Given the description of an element on the screen output the (x, y) to click on. 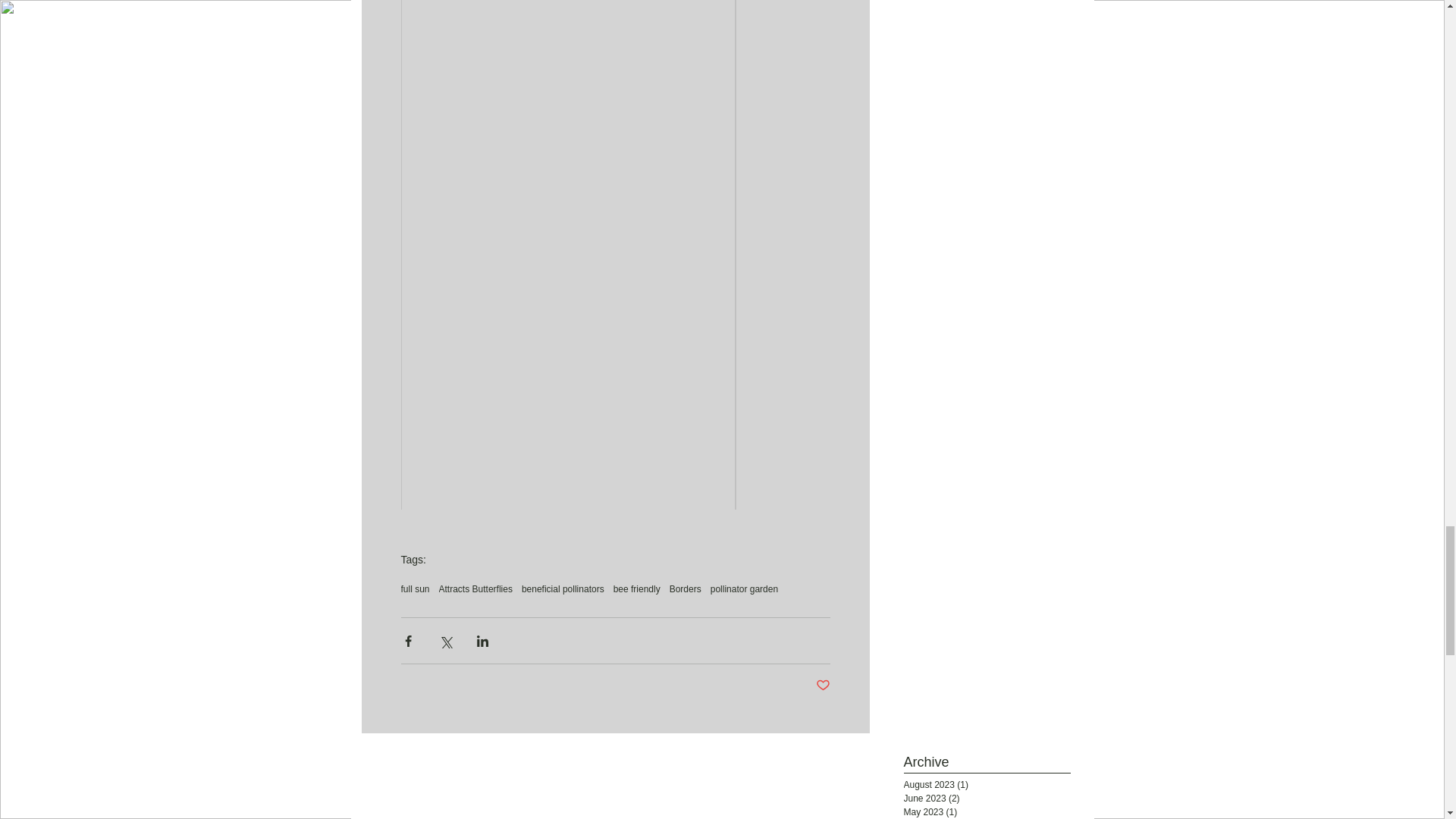
Post not marked as liked (822, 685)
pollinator garden (743, 588)
Borders (685, 588)
full sun (414, 588)
beneficial pollinators (562, 588)
Attracts Butterflies (475, 588)
bee friendly (636, 588)
